Given the description of an element on the screen output the (x, y) to click on. 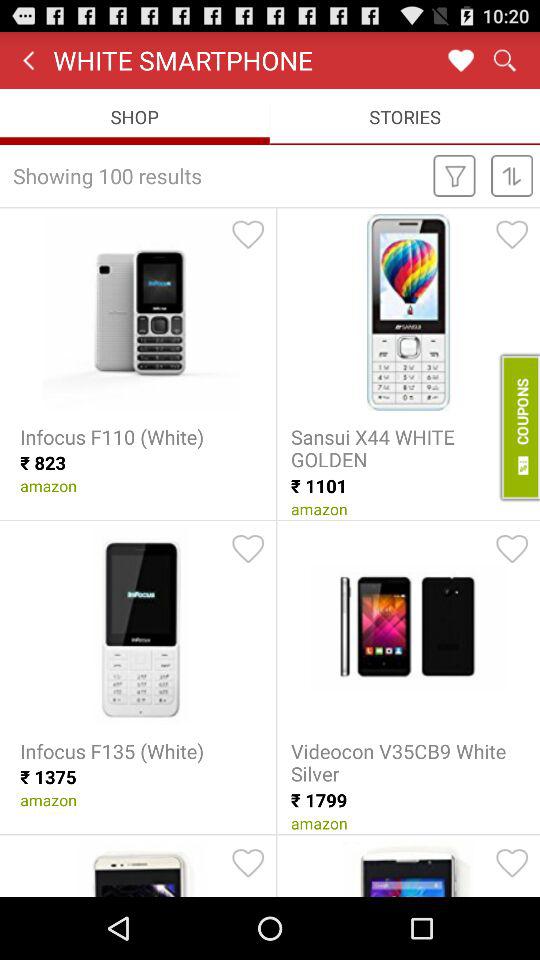
favourite the item (248, 549)
